Given the description of an element on the screen output the (x, y) to click on. 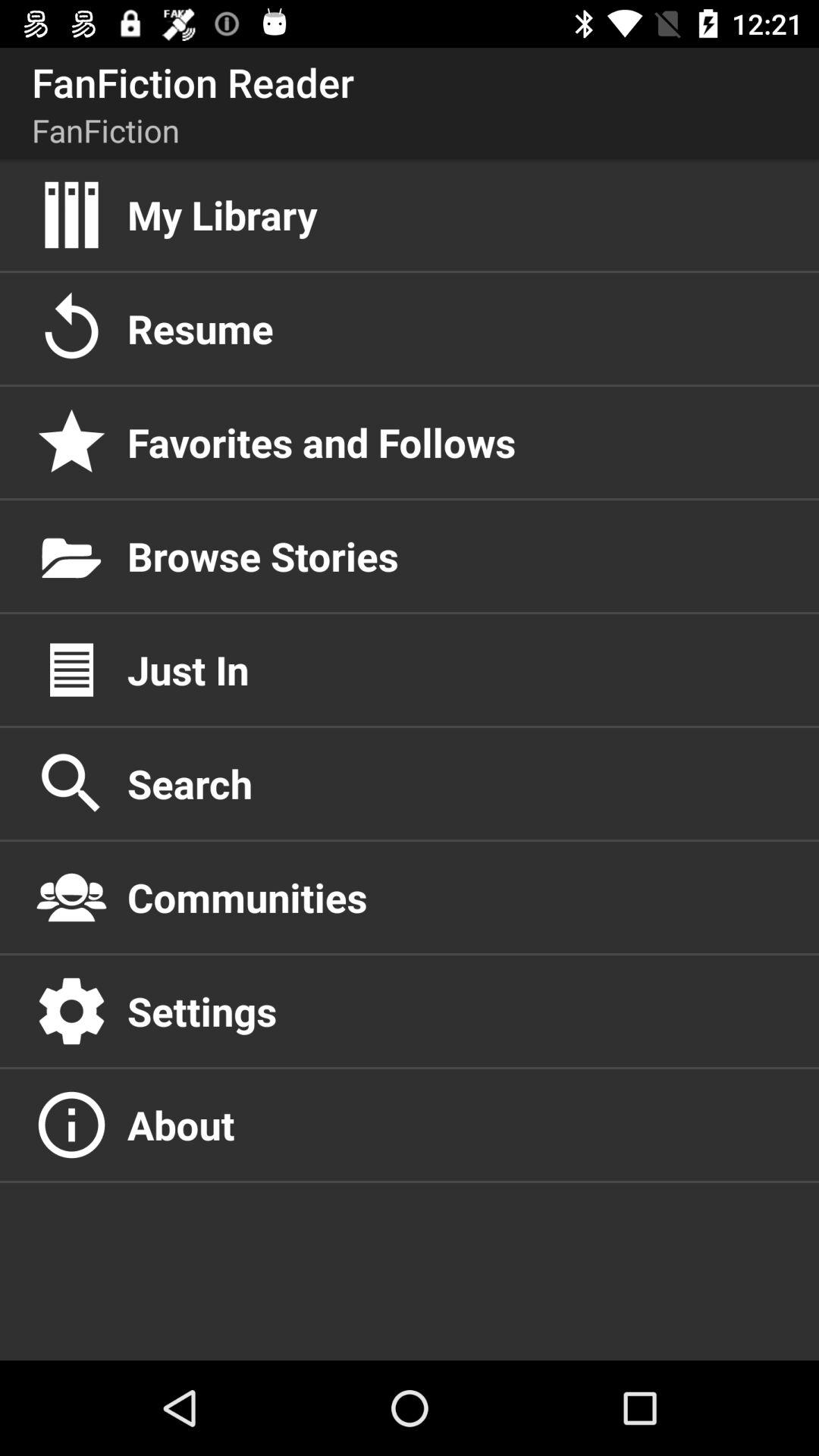
scroll until settings icon (457, 1011)
